Given the description of an element on the screen output the (x, y) to click on. 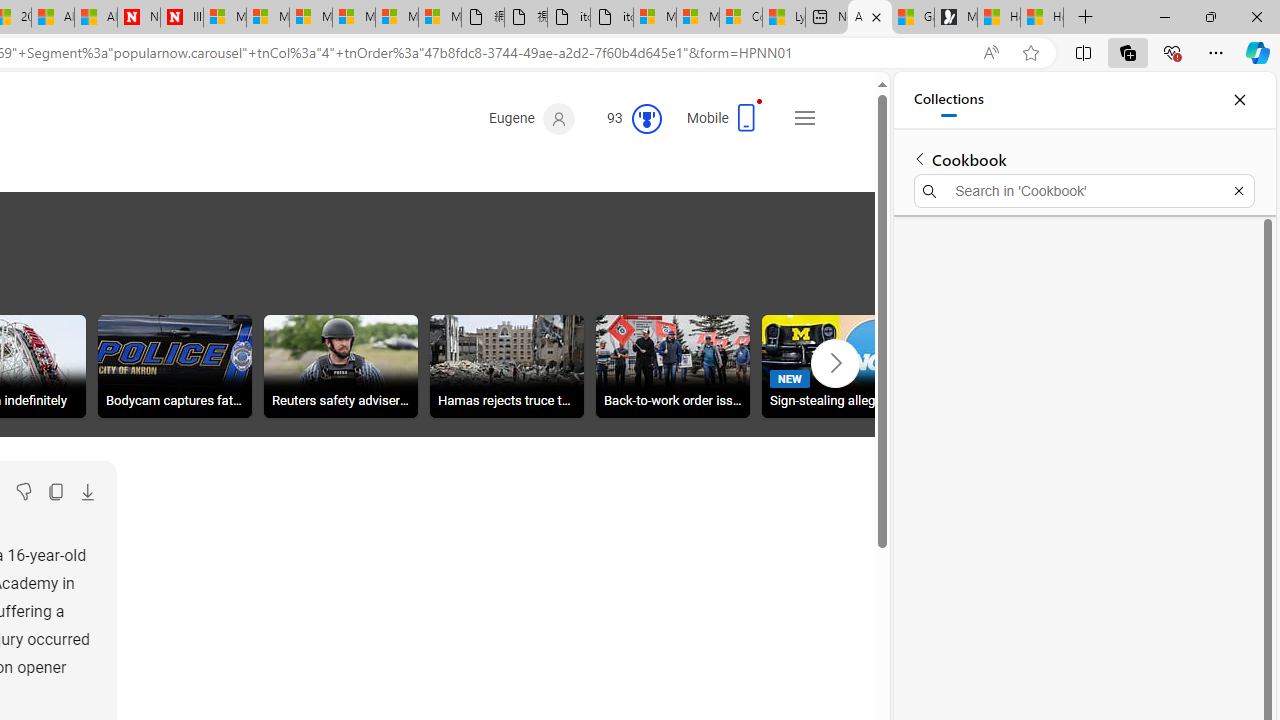
Sign-stealing allegations NEW (838, 365)
Mobile (726, 124)
Copy (55, 491)
How to Use a TV as a Computer Monitor (1042, 17)
